Given the description of an element on the screen output the (x, y) to click on. 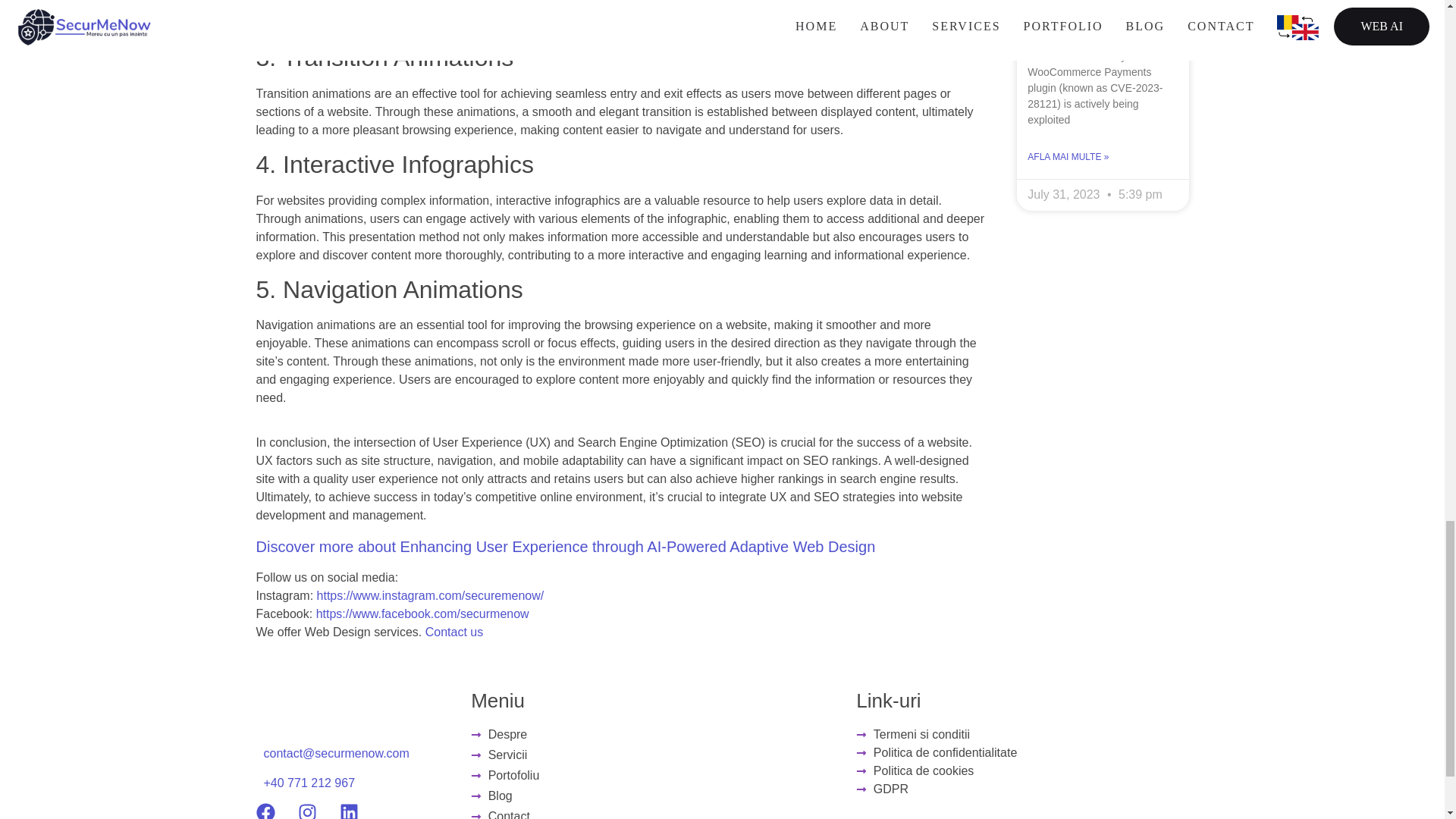
securmenow (494, 613)
Contact us (454, 631)
